Given the description of an element on the screen output the (x, y) to click on. 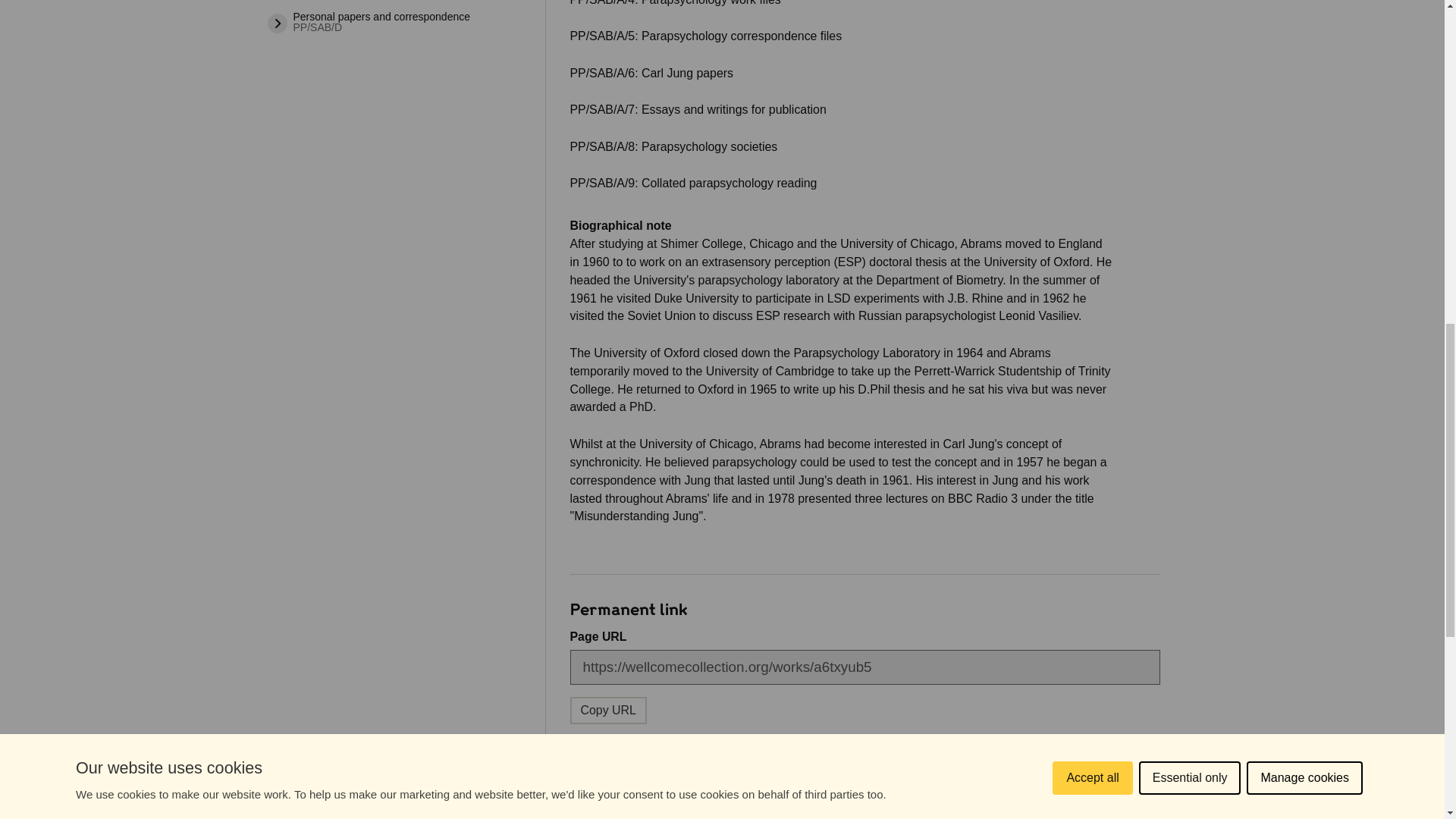
Copy URL (608, 709)
Essential only (1189, 24)
Accept all (1092, 37)
Manage cookies (1304, 17)
